Given the description of an element on the screen output the (x, y) to click on. 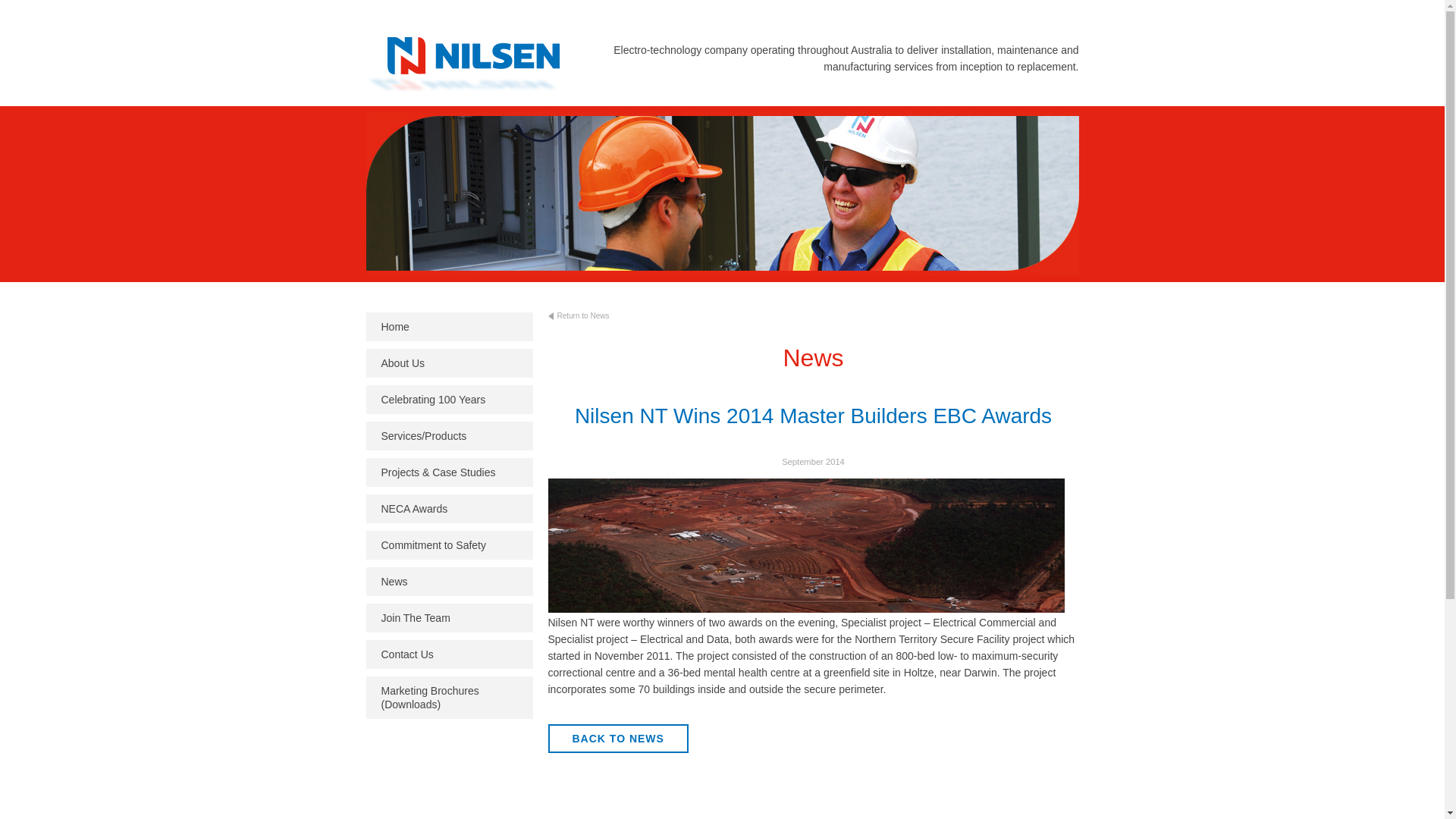
Services/Products Element type: text (448, 435)
BACK TO NEWS Element type: text (617, 738)
Join The Team Element type: text (448, 617)
Projects & Case Studies Element type: text (448, 472)
Contact Us Element type: text (448, 654)
Home Element type: text (448, 326)
Celebrating 100 Years Element type: text (448, 399)
Return to News Element type: text (604, 319)
News Element type: text (448, 581)
Commitment to Safety Element type: text (448, 544)
NECA Awards Element type: text (448, 508)
Marketing Brochures (Downloads) Element type: text (448, 697)
About Us Element type: text (448, 362)
